Given the description of an element on the screen output the (x, y) to click on. 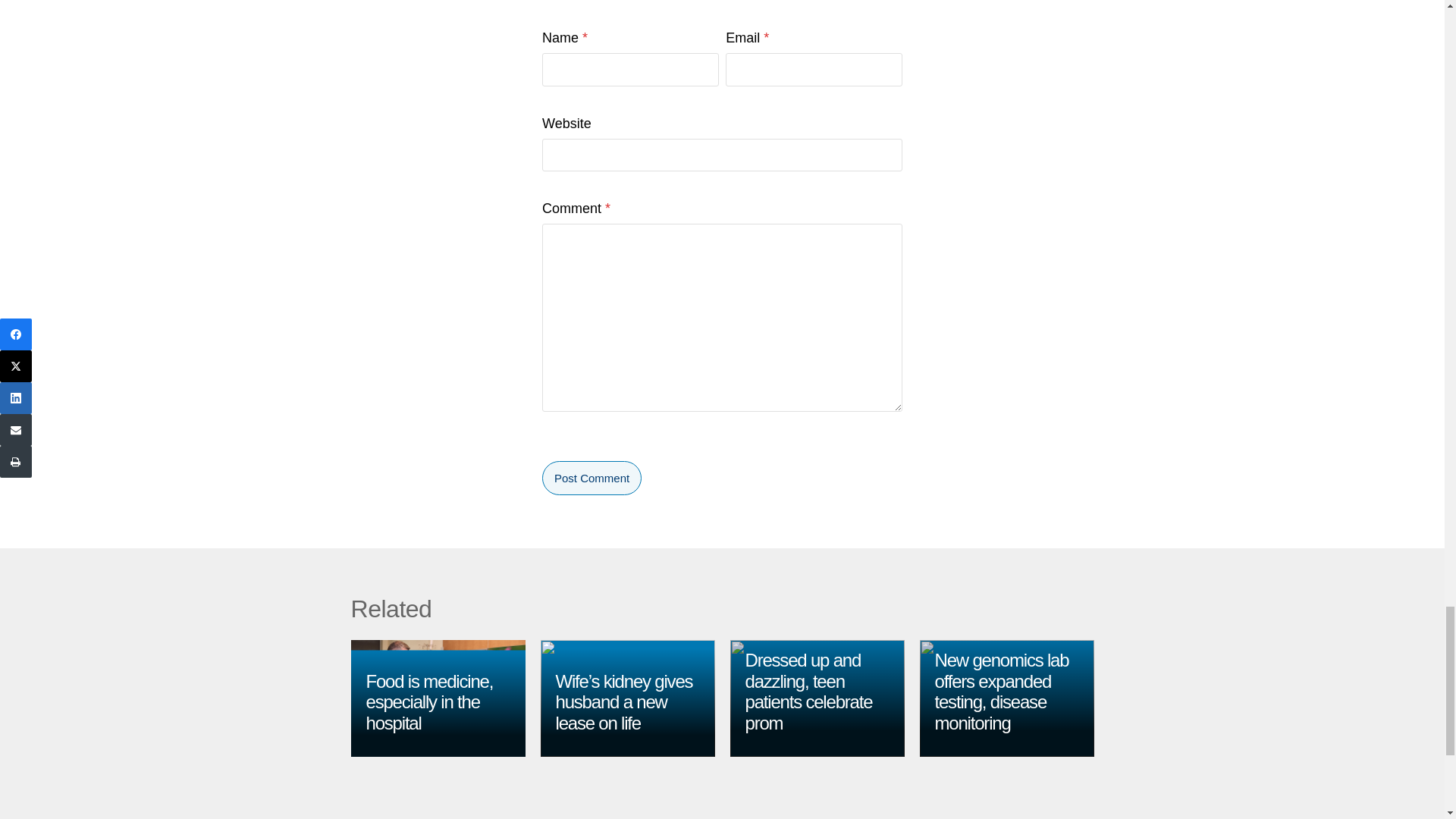
Dressed up and dazzling, teen patients celebrate prom (808, 691)
New genomics lab offers expanded testing, disease monitoring (1001, 691)
Post Comment (591, 478)
Food is medicine, especially in the hospital (429, 701)
Food is medicine, especially in the hospital (429, 701)
Dressed up and dazzling, teen patients celebrate prom (808, 691)
New genomics lab offers expanded testing, disease monitoring (1001, 691)
Post Comment (591, 478)
